Given the description of an element on the screen output the (x, y) to click on. 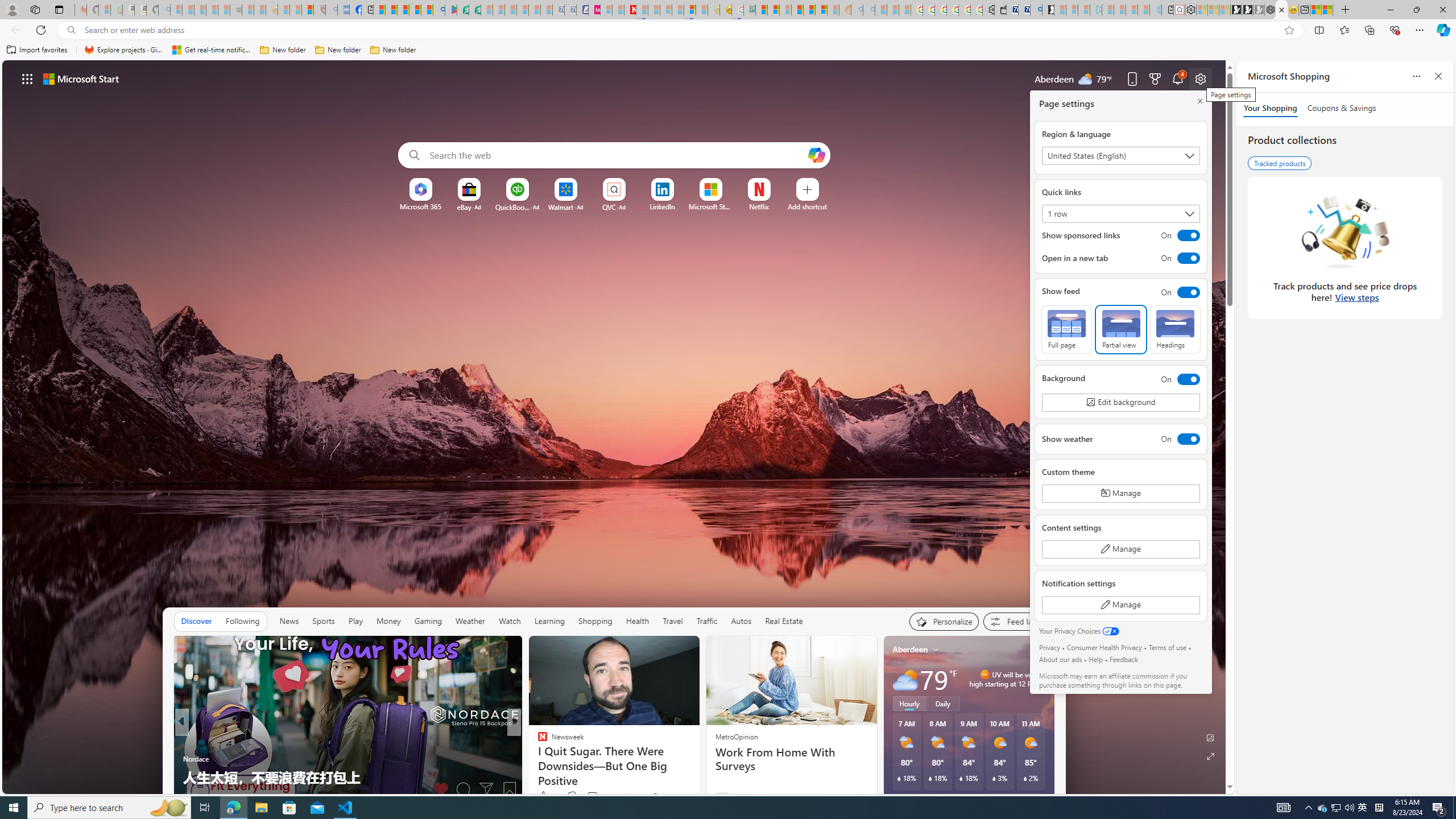
Shopping (595, 621)
Cheap Hotels - Save70.com - Sleeping (569, 9)
331 Like (545, 796)
Class: icon-img (1037, 649)
Wildlife - MSN (1315, 9)
Work From Home With Surveys (790, 759)
